Given the description of an element on the screen output the (x, y) to click on. 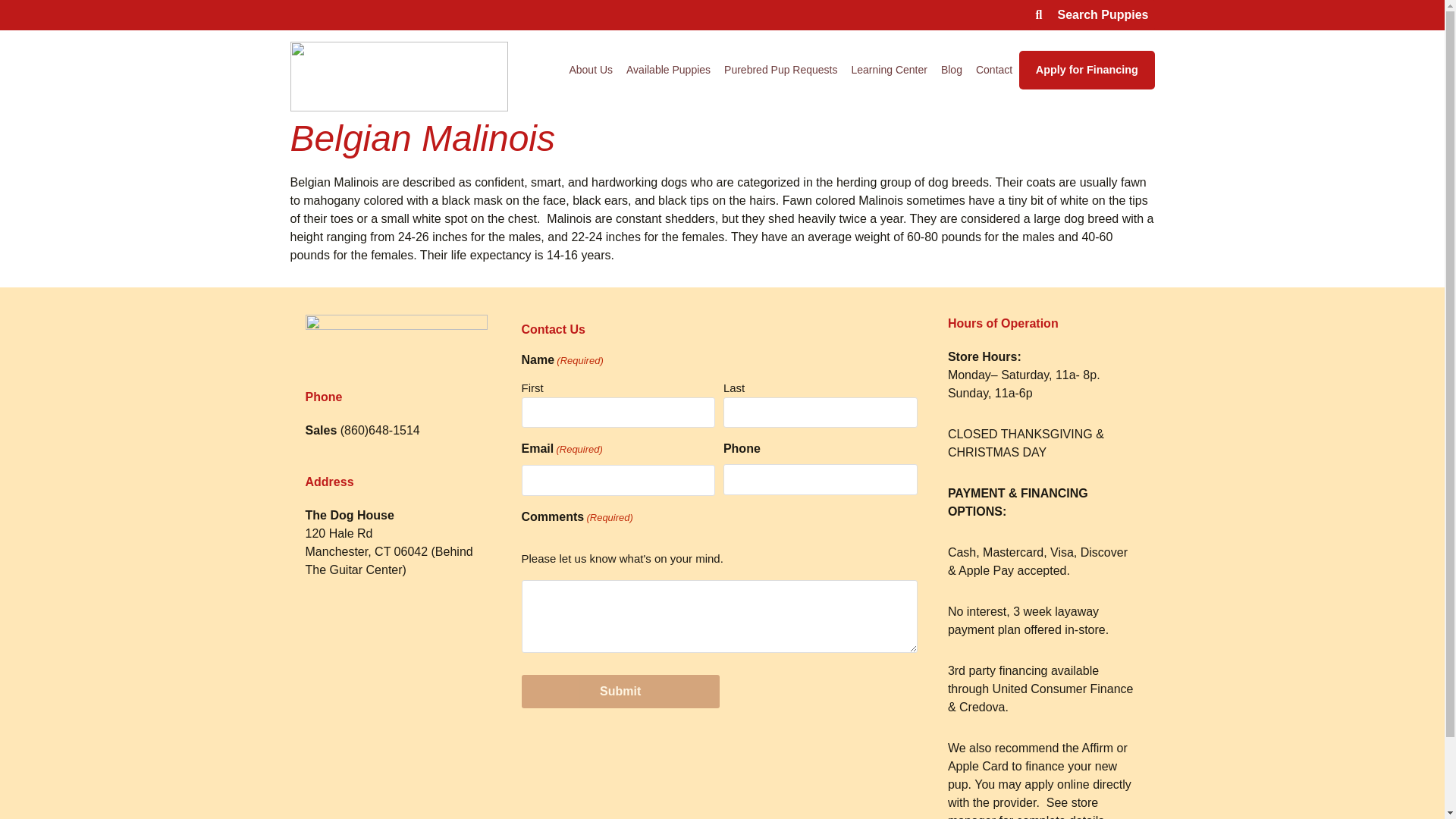
Purebred Pup Requests (780, 69)
Learning Center (889, 69)
Submit (620, 691)
Submit (620, 691)
Apply for Financing (1086, 69)
Available Puppies (668, 69)
Search Puppies (1091, 15)
About Us (591, 69)
